Given the description of an element on the screen output the (x, y) to click on. 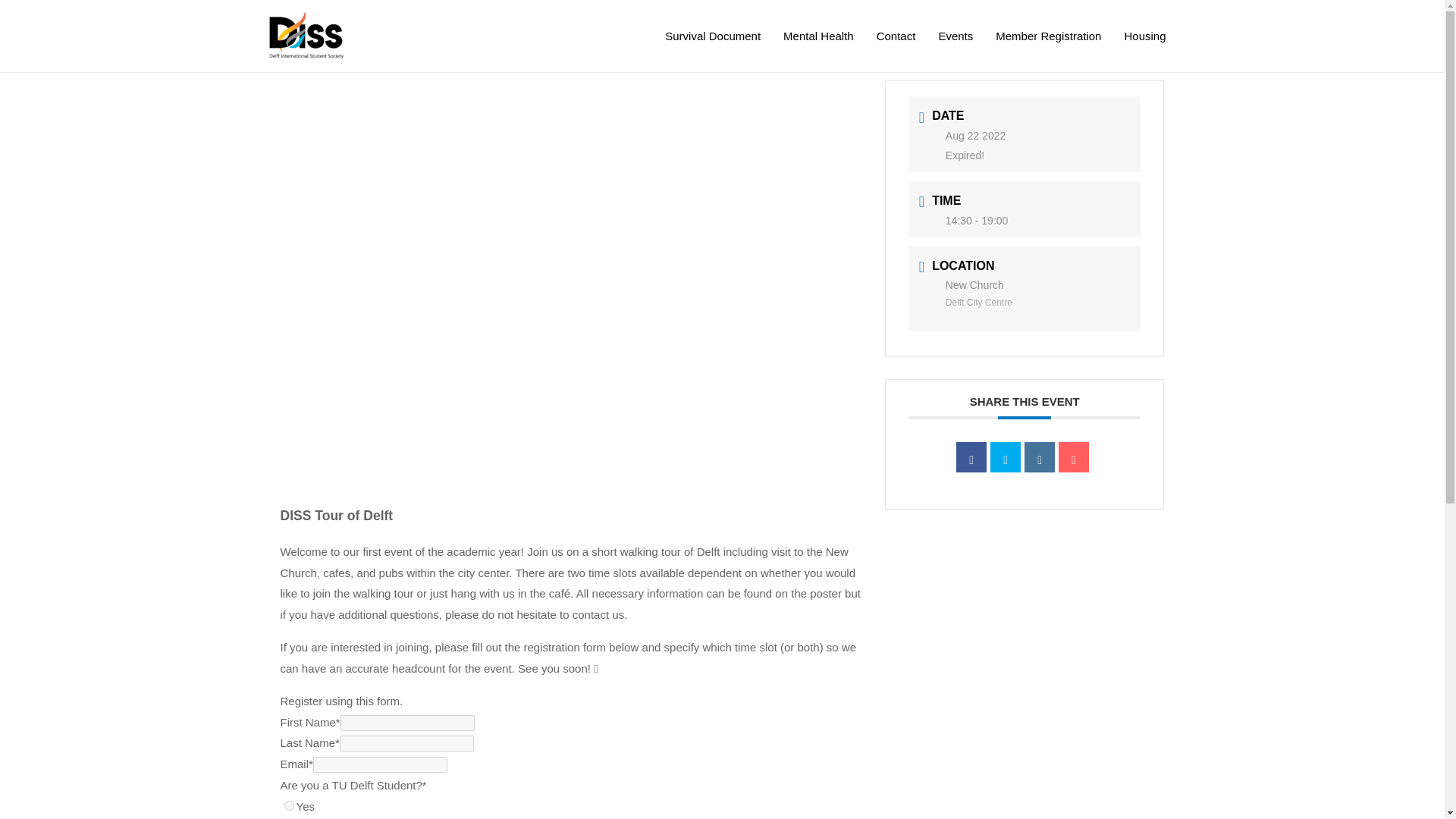
Email (1073, 457)
Housing (1144, 36)
Mental Health (817, 36)
Yes (288, 805)
Linkedin (1039, 457)
Survival Document (712, 36)
Member Registration (1048, 36)
Tweet (1005, 457)
Share on Facebook (971, 457)
